Given the description of an element on the screen output the (x, y) to click on. 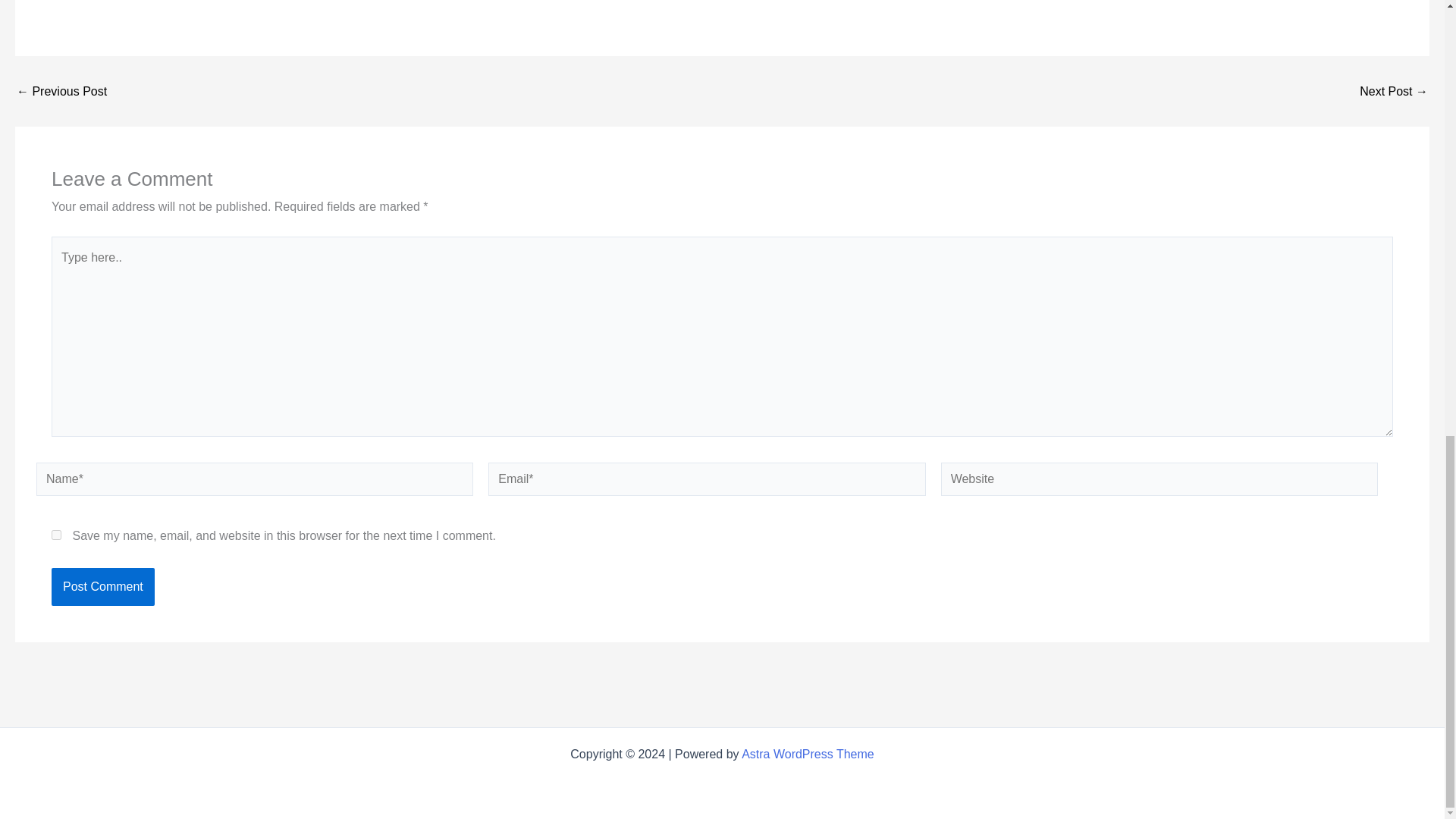
Astra WordPress Theme (808, 753)
yes (55, 534)
Post Comment (102, 587)
Post Comment (102, 587)
